Given the description of an element on the screen output the (x, y) to click on. 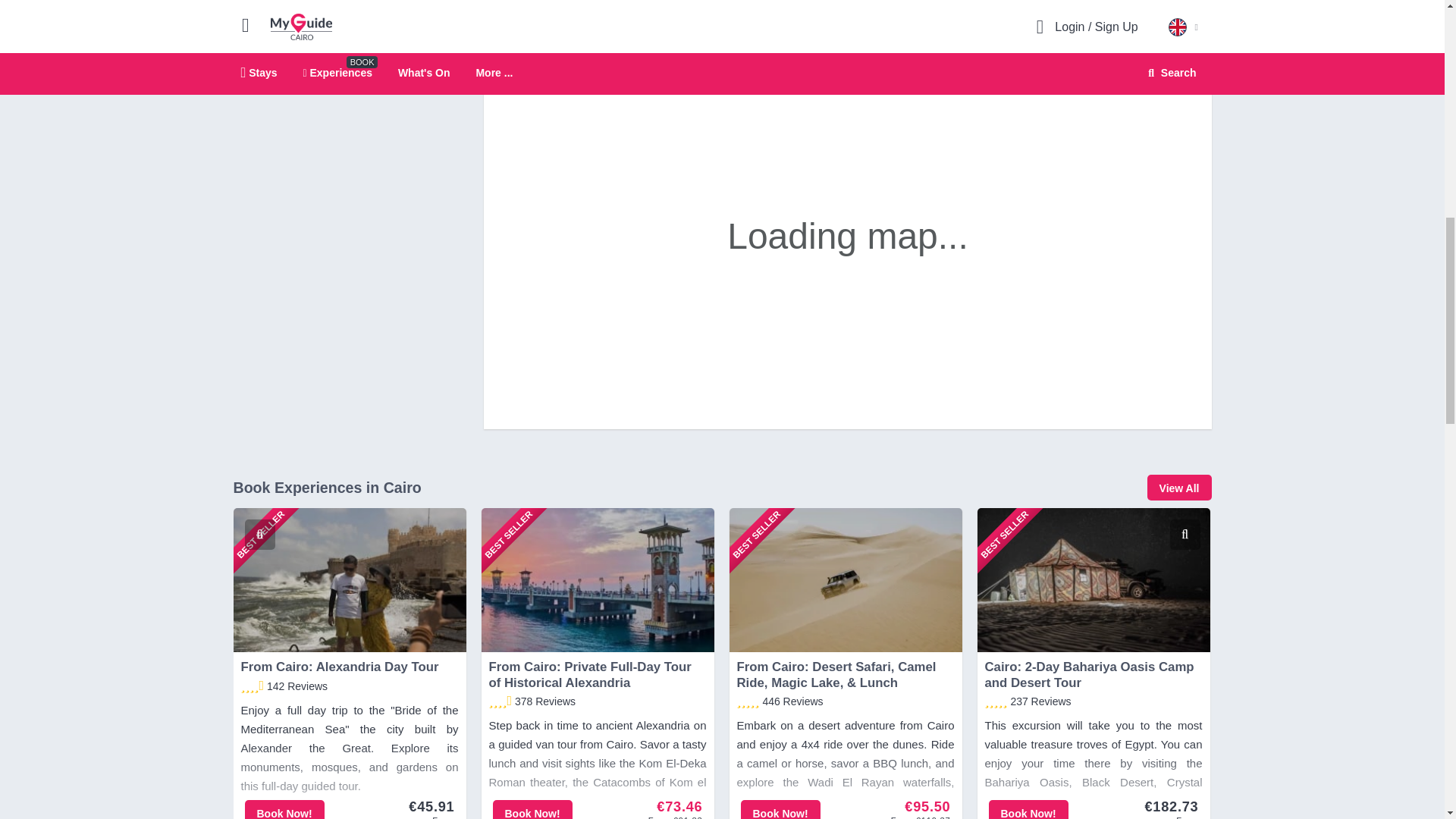
Larger Map for Company: The Moghul Room Cairo (1133, 66)
